Given the description of an element on the screen output the (x, y) to click on. 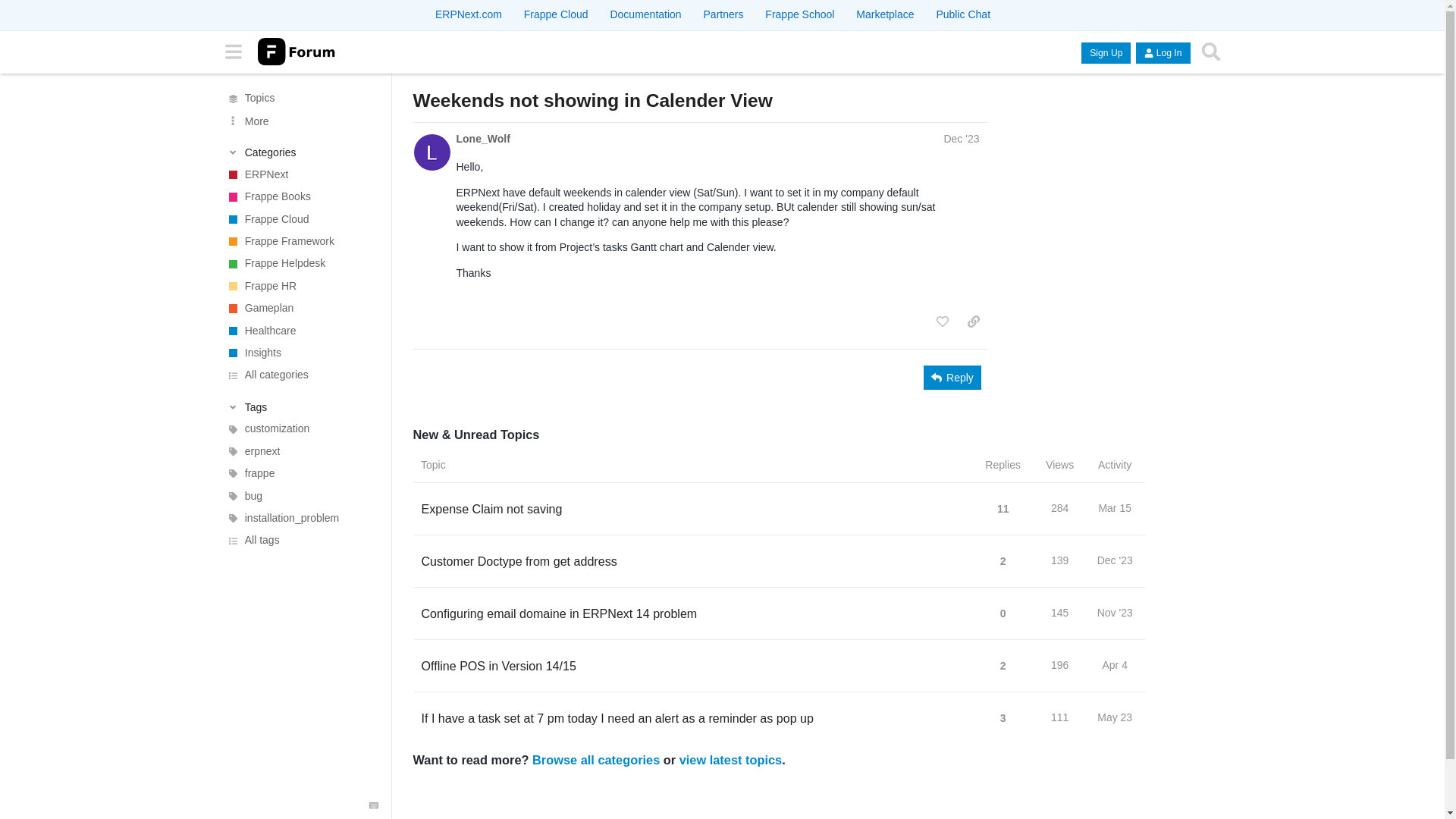
ERPNext.com (468, 14)
Tags (301, 406)
Keyboard Shortcuts (373, 804)
Sign Up (1106, 52)
All tags (300, 540)
Sidebar (232, 51)
Dec '23 (960, 138)
Weekends not showing in Calender View (591, 100)
Healthcare (300, 331)
Frappe Cloud (300, 219)
